Given the description of an element on the screen output the (x, y) to click on. 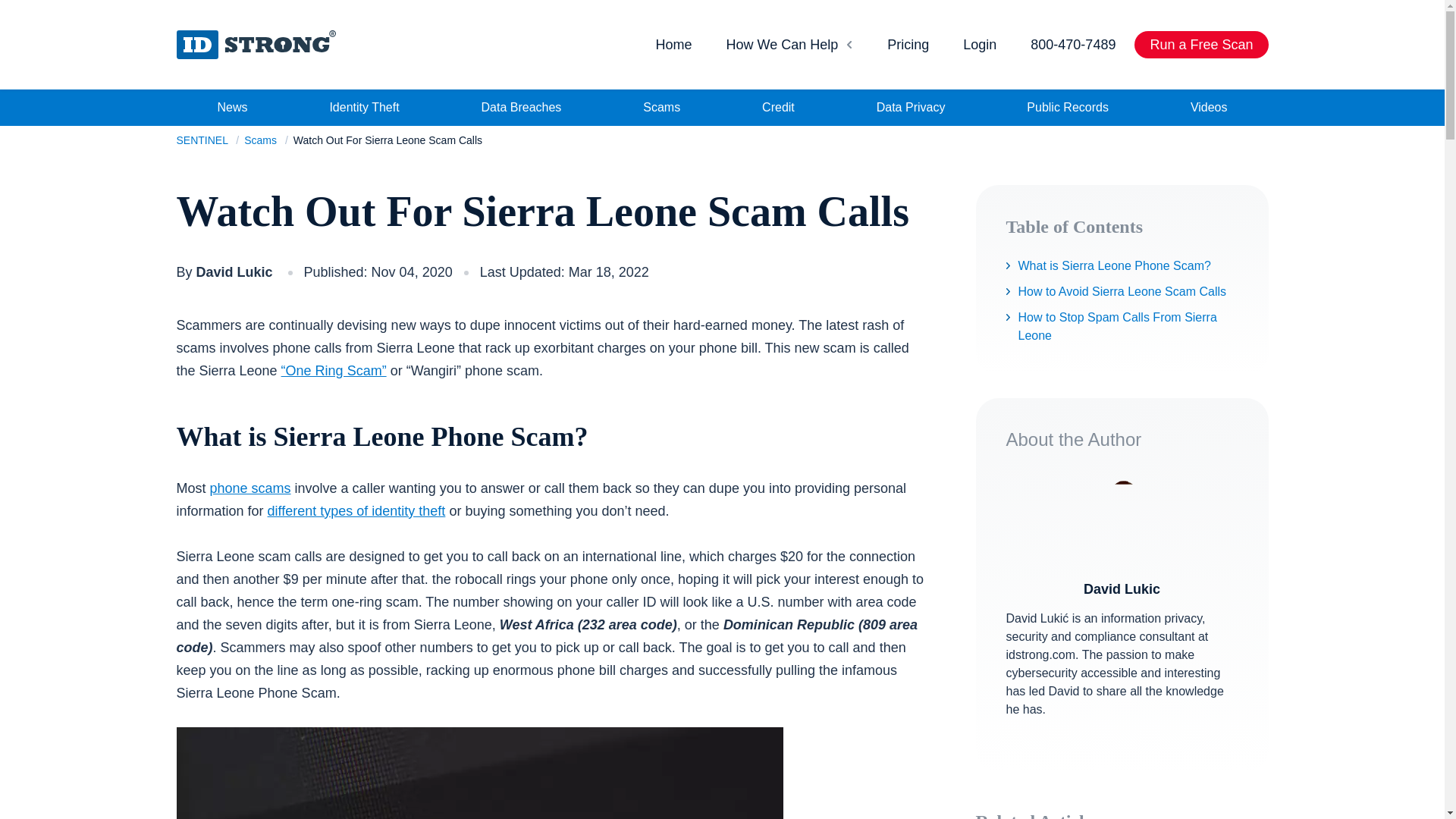
Credit (777, 107)
different types of identity theft (356, 510)
phone scams (250, 488)
Home (673, 44)
How We Can Help (790, 44)
SENTINEL (203, 140)
Pricing (907, 44)
800-470-7489 (1072, 44)
Login (979, 44)
Data Breaches (521, 107)
